Given the description of an element on the screen output the (x, y) to click on. 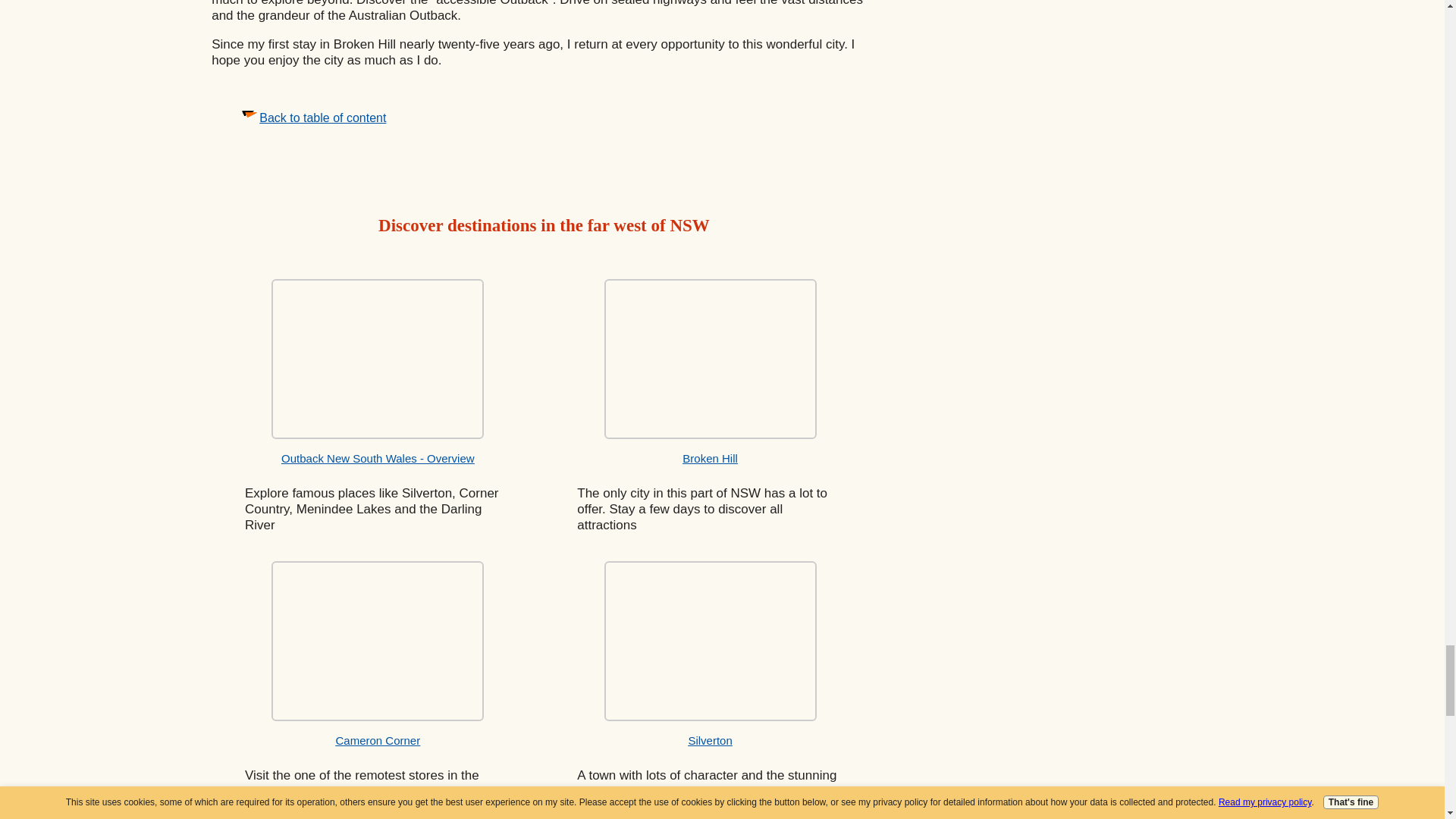
Discover the sights of the silver city (710, 358)
No, it is not a ghost town, click to see why (710, 641)
Go and discover the lonely west (376, 358)
See where three states meet - do you know which? (376, 641)
